Given the description of an element on the screen output the (x, y) to click on. 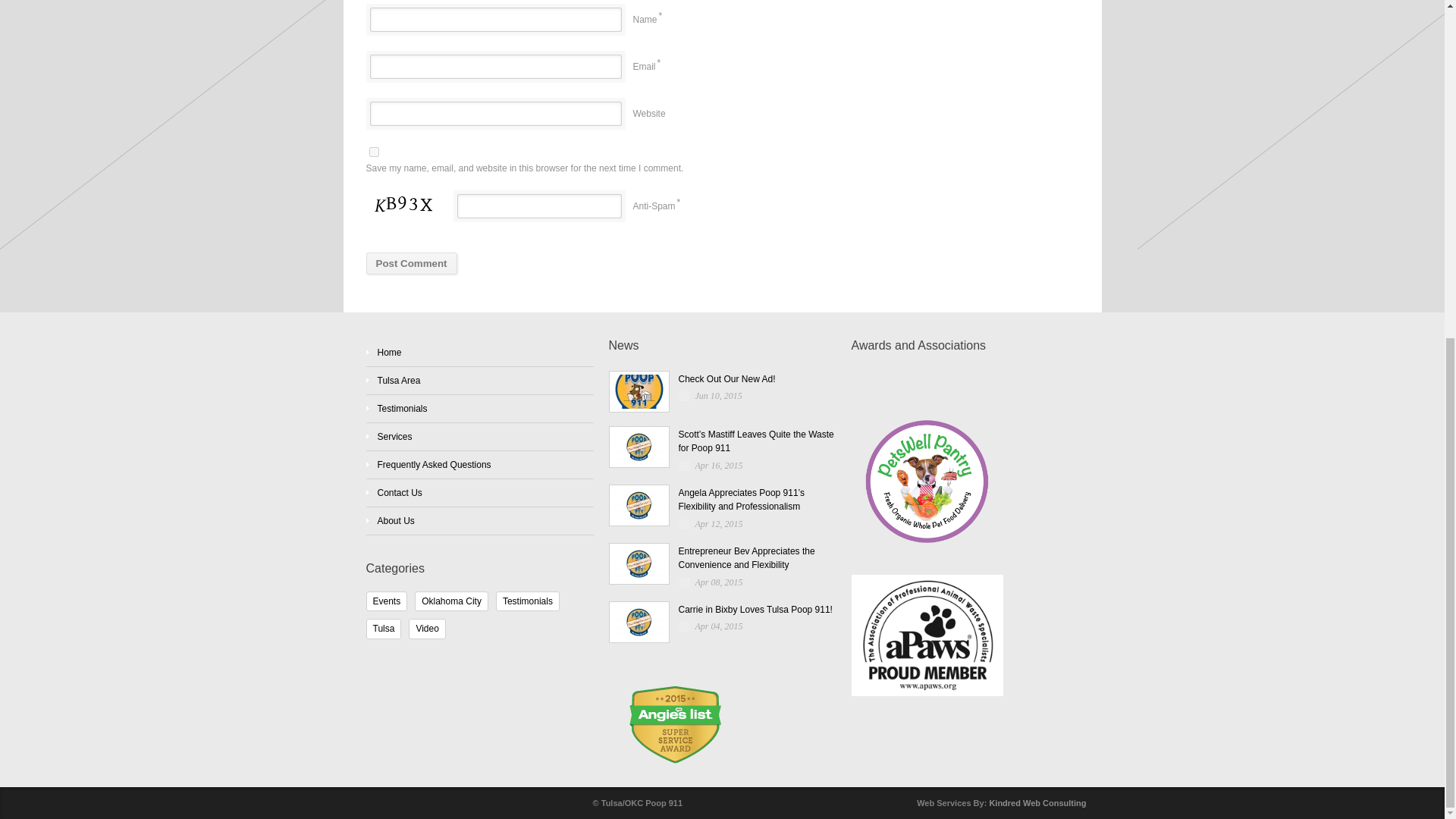
Testimonials (527, 600)
Events (386, 600)
Contact Us (399, 492)
Home (389, 352)
About Us (395, 520)
Frequently Asked Questions (434, 464)
Tulsa Poop 911, Lawn Maintenance, Tulsa, OK (906, 381)
Post Comment (411, 263)
Tulsa Area (398, 380)
Post Comment (411, 263)
Pets Well Pantry (964, 480)
yes (373, 152)
Frequently Asked Questions (434, 464)
APAWS (964, 626)
Testimonials (402, 408)
